Given the description of an element on the screen output the (x, y) to click on. 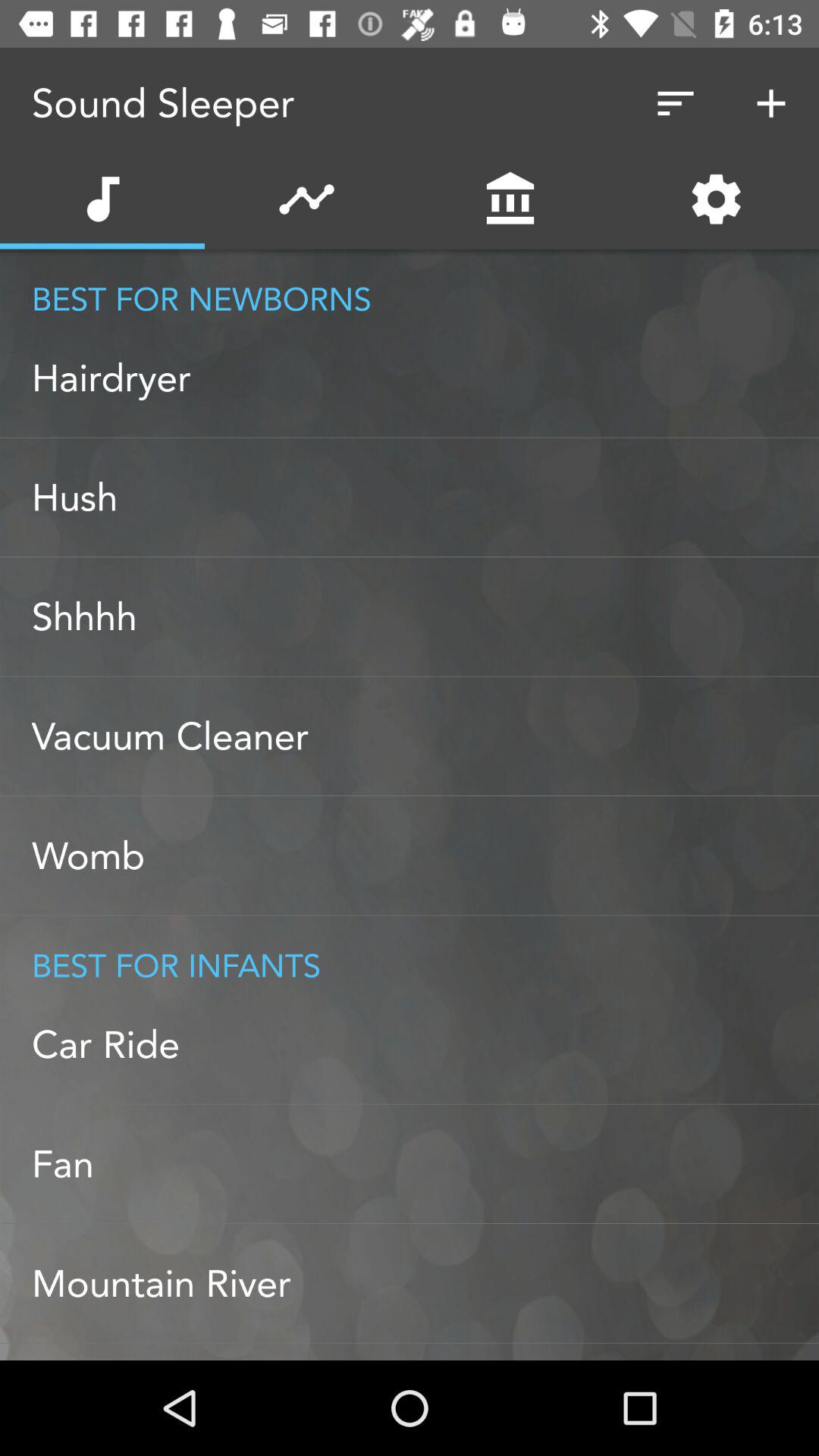
click the shhhh item (425, 616)
